Given the description of an element on the screen output the (x, y) to click on. 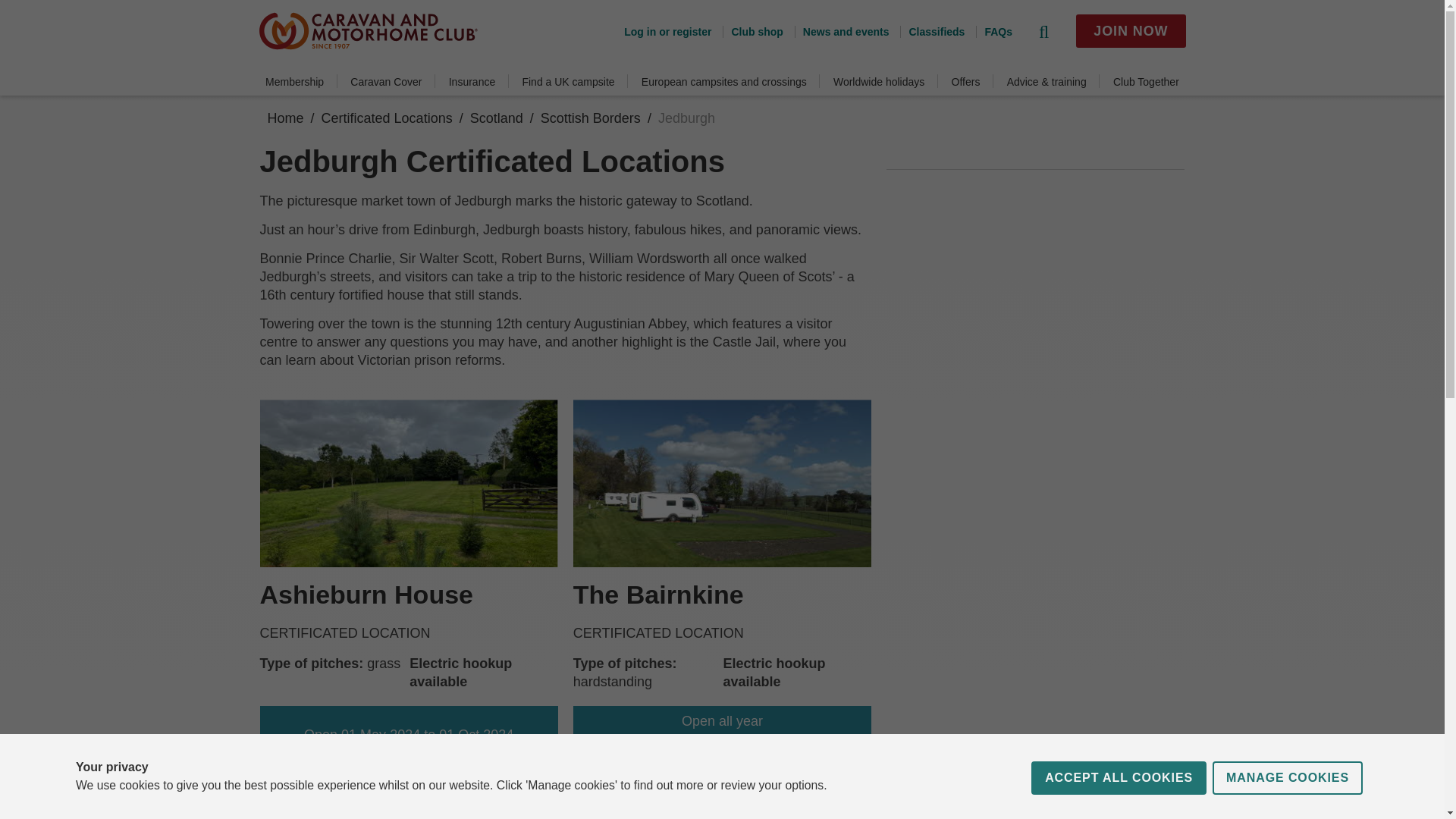
Club shop (752, 31)
Classifieds (931, 31)
News and events (841, 31)
Log in or register (667, 31)
Membership (293, 81)
The Bairnkine (658, 594)
FAQs (993, 31)
Log in or register (667, 31)
Ashieburn House (365, 594)
JOIN NOW (1130, 30)
